Given the description of an element on the screen output the (x, y) to click on. 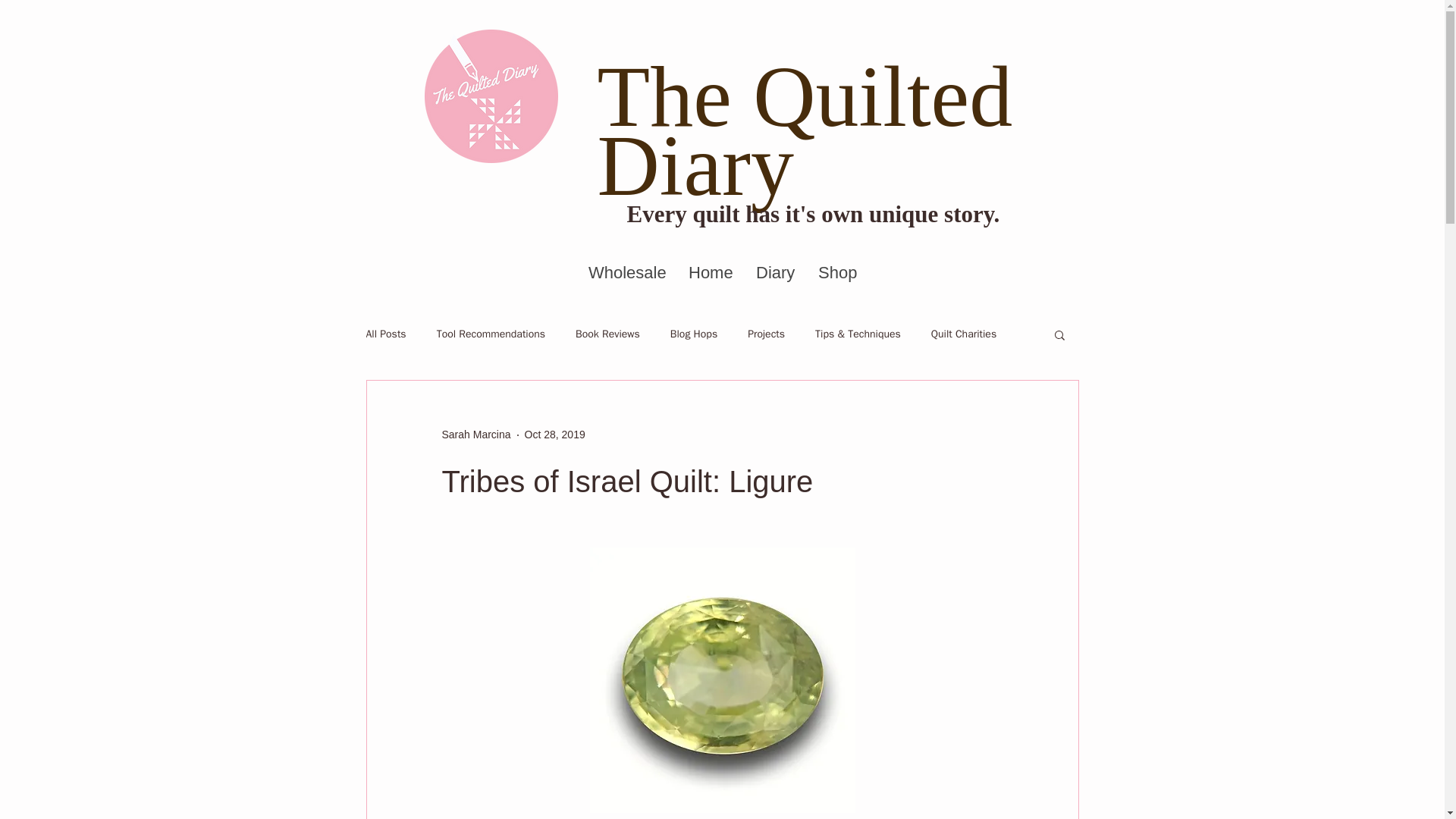
Book Reviews (607, 334)
Shop (836, 273)
Sarah Marcina (476, 434)
Projects (766, 334)
Sarah Marcina (476, 434)
Blog Hops (693, 334)
Diary (775, 273)
Home (710, 273)
All Posts (385, 334)
Tool Recommendations (490, 334)
Oct 28, 2019 (554, 434)
Wholesale (626, 273)
Quilt Charities (963, 334)
